Given the description of an element on the screen output the (x, y) to click on. 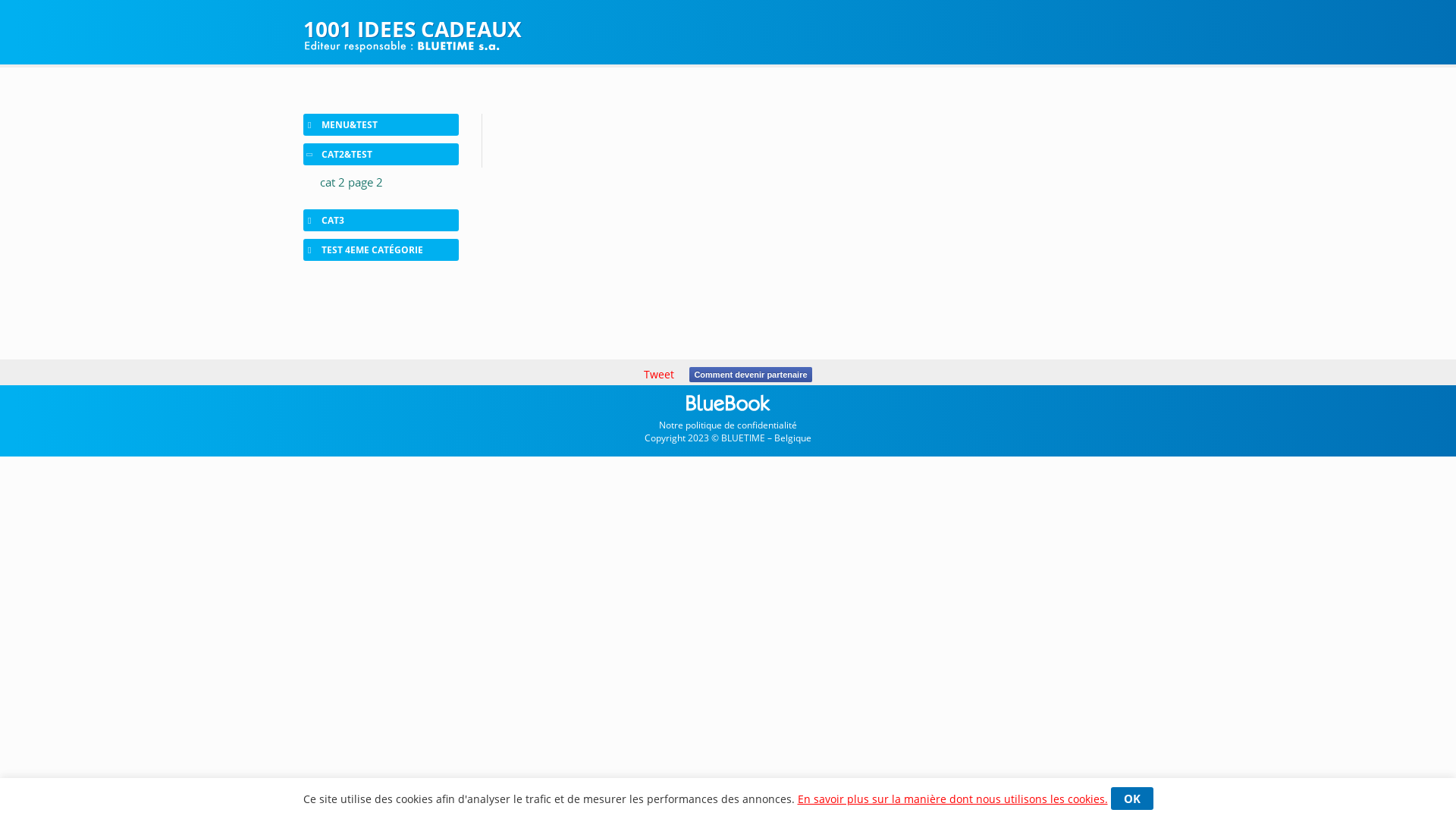
CAT3 Element type: text (380, 220)
Tweet Element type: text (658, 374)
1001 IDEES CADEAUX Element type: text (727, 28)
Comment devenir partenaire Element type: text (749, 374)
CAT2&TEST Element type: text (380, 154)
MENU&TEST Element type: text (380, 124)
